Given the description of an element on the screen output the (x, y) to click on. 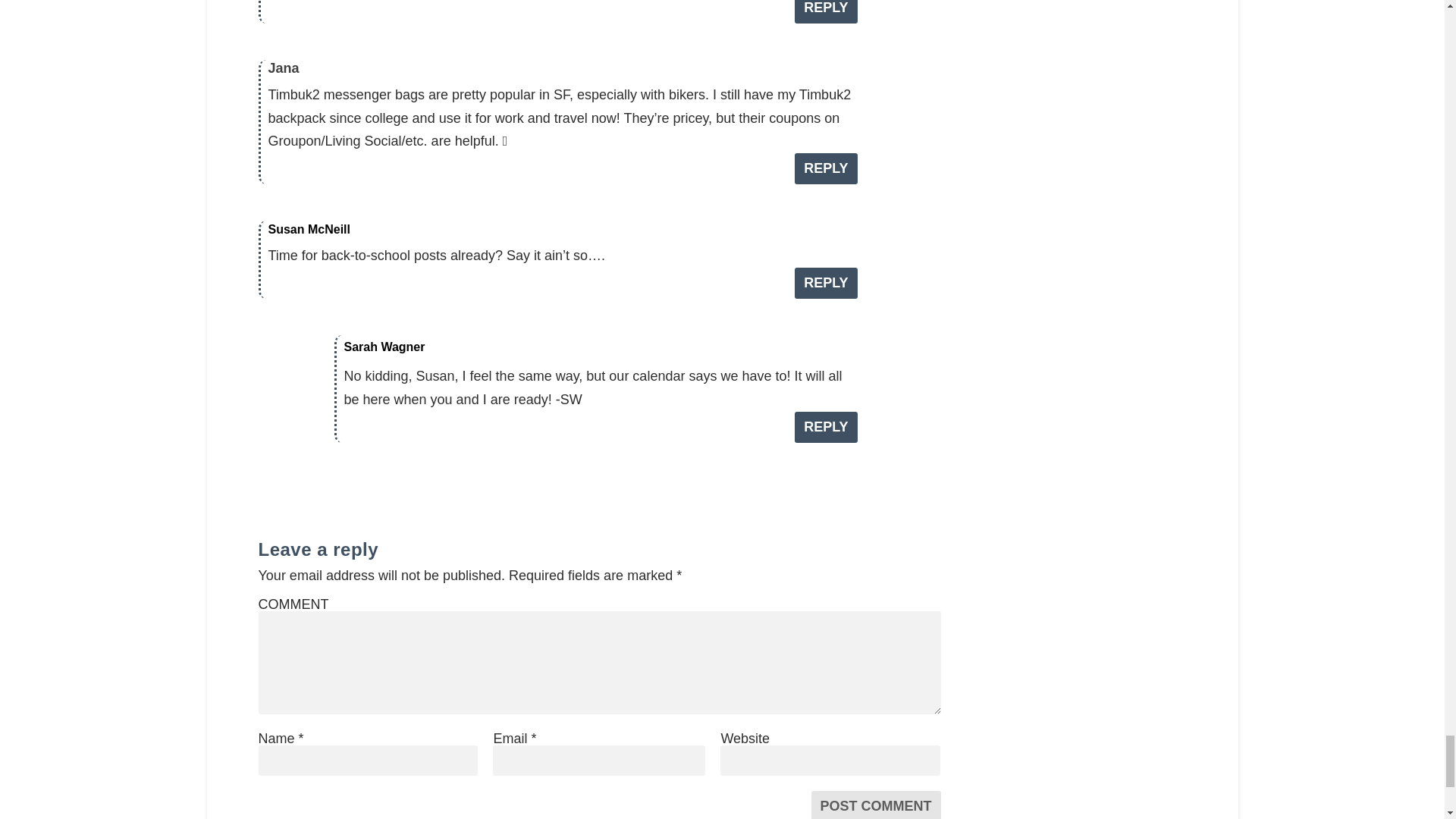
Post Comment (875, 805)
